Given the description of an element on the screen output the (x, y) to click on. 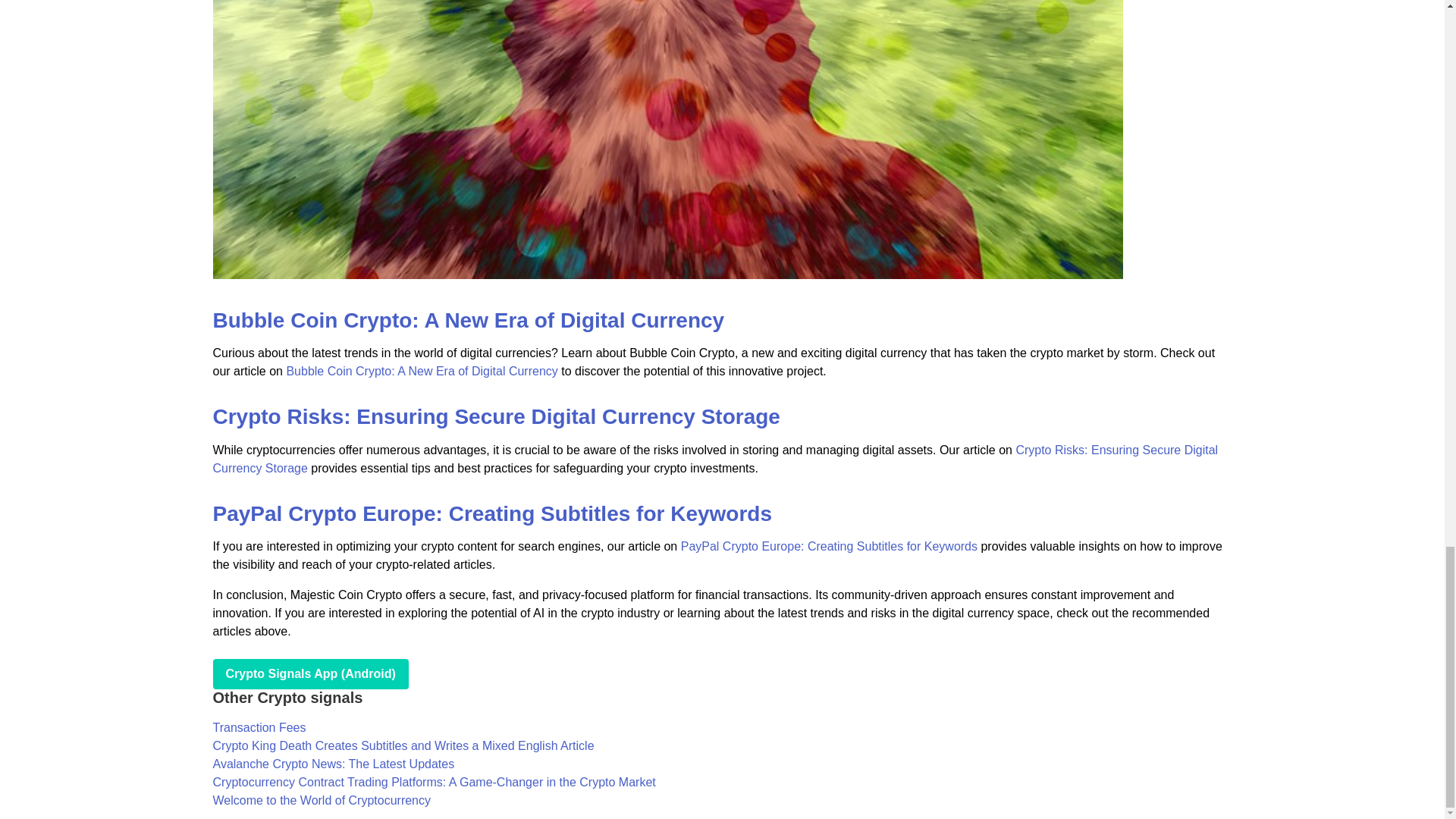
Welcome to the World of Cryptocurrency (321, 799)
Avalanche Crypto News: The Latest Updates (333, 763)
Transaction Fees (258, 727)
PayPal Crypto Europe: Creating Subtitles for Keywords (491, 513)
Transaction Fees (258, 727)
Crypto Risks: Ensuring Secure Digital Currency Storage (714, 459)
Crypto Risks: Ensuring Secure Digital Currency Storage (495, 416)
PayPal Crypto Europe: Creating Subtitles for Keywords (828, 545)
Bubble Coin Crypto: A New Era of Digital Currency (467, 320)
Bubble Coin Crypto: A New Era of Digital Currency (421, 370)
play (309, 674)
Welcome to the World of Cryptocurrency (321, 799)
